Given the description of an element on the screen output the (x, y) to click on. 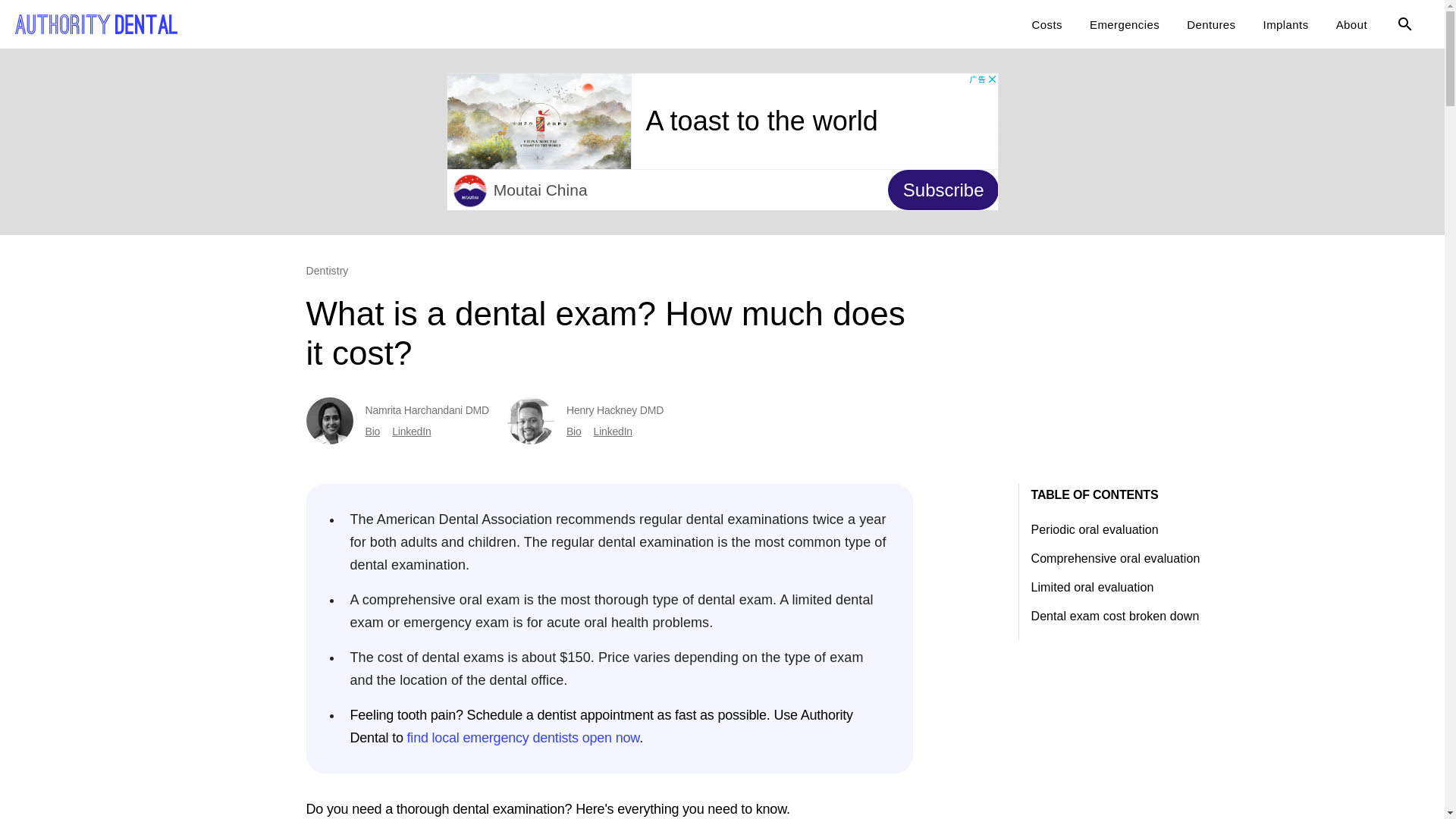
About (1351, 23)
Henry Hackney DMD (614, 410)
Costs (1046, 23)
Advertisement (721, 141)
Dentistry (327, 270)
Bio (573, 431)
Dentures (1211, 23)
Emergencies (1124, 23)
find local emergency dentists open now (523, 737)
Bio (372, 431)
